Given the description of an element on the screen output the (x, y) to click on. 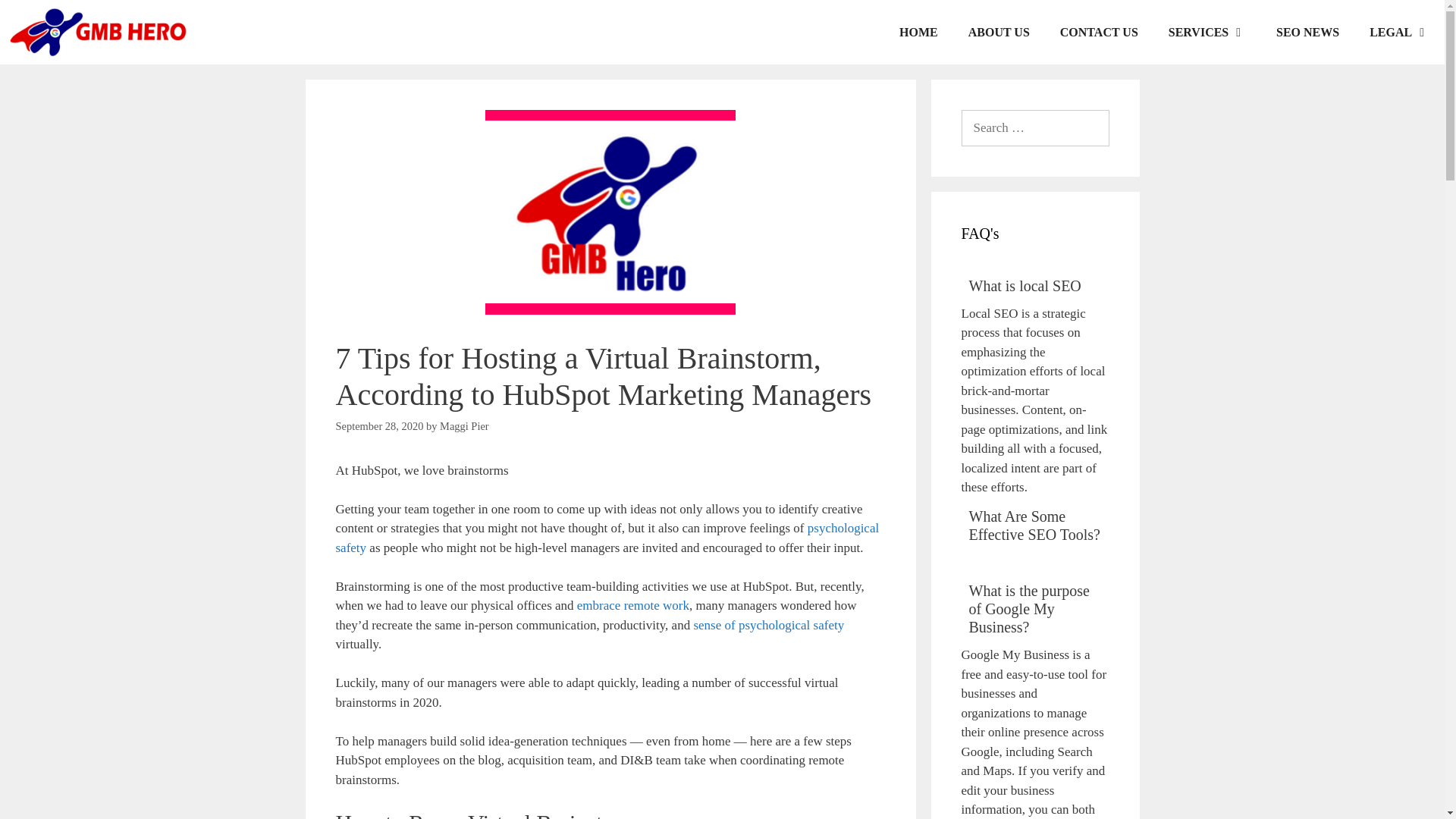
CONTACT US (1099, 32)
embrace remote work (632, 605)
Search (33, 18)
SERVICES (1206, 32)
HOME (918, 32)
ABOUT US (999, 32)
GMB Hero (97, 32)
psychological safety (606, 537)
Maggi Pier (464, 426)
Search for: (1034, 127)
GMB Hero (101, 32)
sense of psychological safety (768, 625)
